Given the description of an element on the screen output the (x, y) to click on. 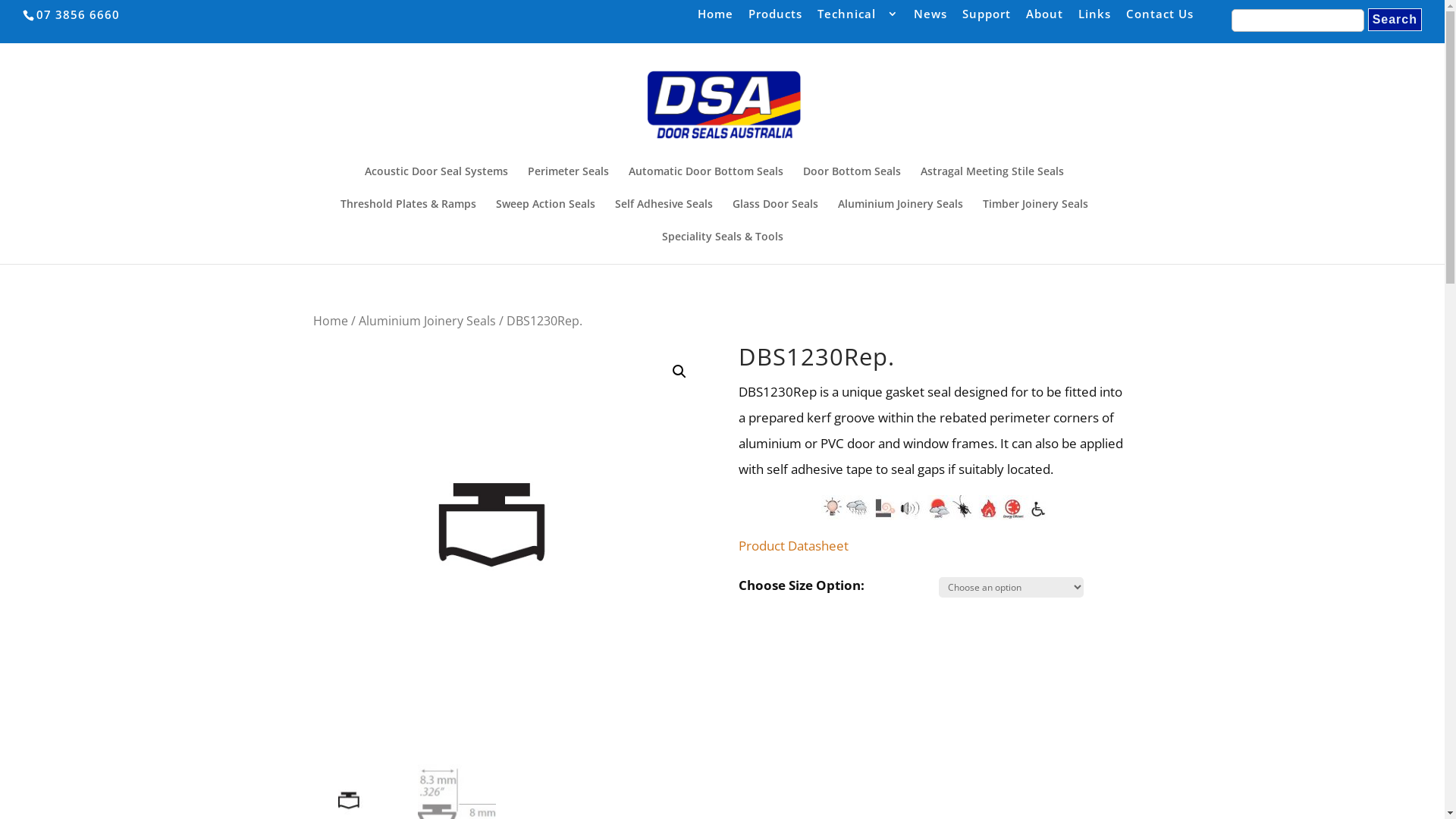
Aluminium Joinery Seals Element type: text (426, 320)
Self Adhesive Seals Element type: text (663, 214)
Technical Element type: text (857, 18)
Links Element type: text (1094, 18)
Sweep Action Seals Element type: text (545, 214)
Support Element type: text (986, 18)
Astragal Meeting Stile Seals Element type: text (991, 182)
Search Element type: text (1394, 19)
Product Datasheet Element type: text (793, 545)
Acoustic Door Seal Systems Element type: text (435, 182)
Home Element type: text (329, 320)
DBS1230Rep Element type: hover (508, 541)
Timber Joinery Seals Element type: text (1035, 214)
Perimeter Seals Element type: text (567, 182)
Glass Door Seals Element type: text (775, 214)
Threshold Plates & Ramps Element type: text (407, 214)
Door Bottom Seals Element type: text (851, 182)
News Element type: text (930, 18)
Products Element type: text (775, 18)
Speciality Seals & Tools Element type: text (721, 247)
About Element type: text (1044, 18)
DBS1230Rep dimensions Element type: hover (901, 510)
Home Element type: text (715, 18)
Automatic Door Bottom Seals Element type: text (704, 182)
Aluminium Joinery Seals Element type: text (899, 214)
Contact Us Element type: text (1159, 18)
